Given the description of an element on the screen output the (x, y) to click on. 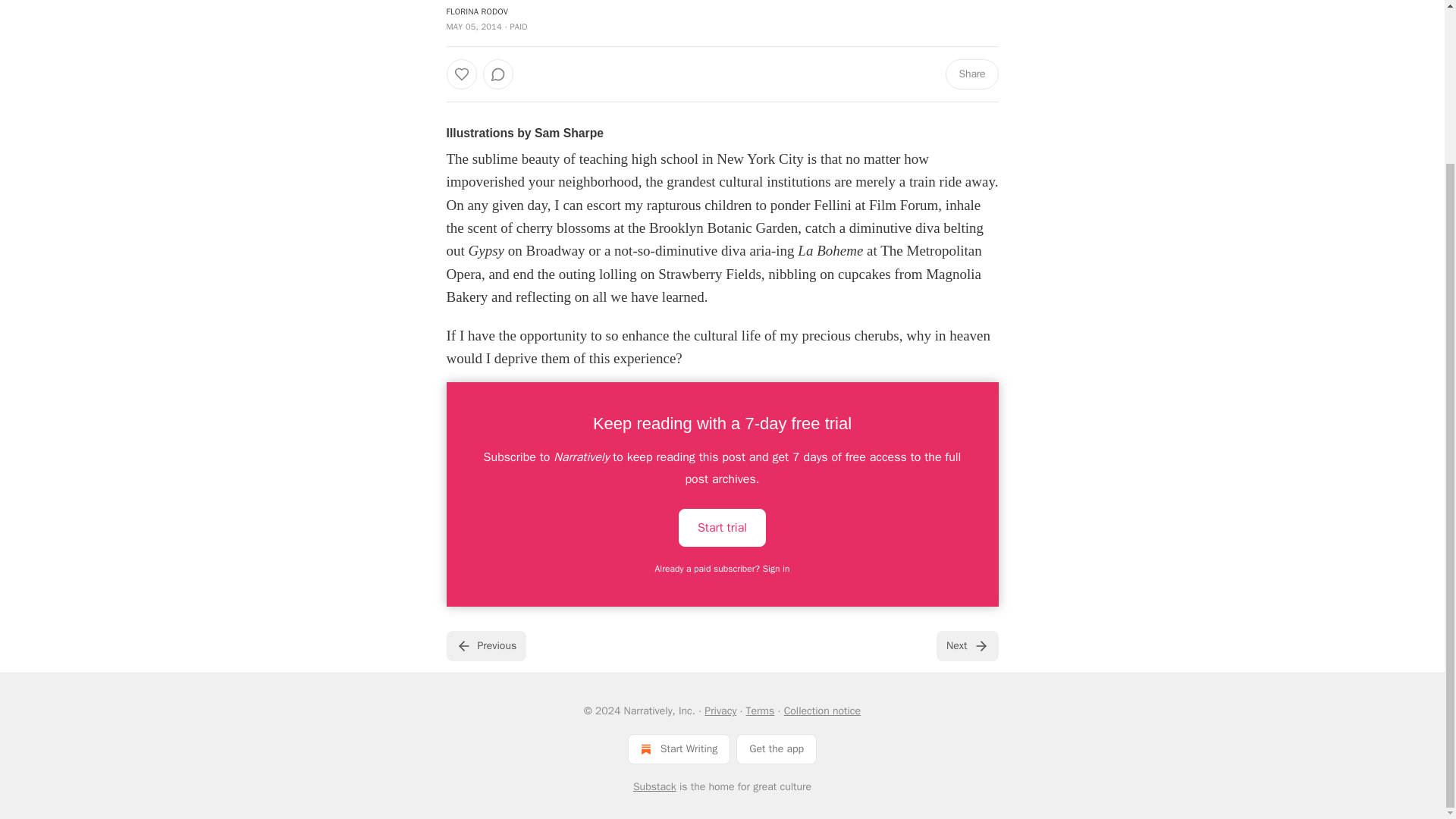
Start trial (721, 526)
Share (970, 73)
Next (966, 645)
Terms (759, 710)
Start trial (721, 527)
FLORINA RODOV (476, 10)
Already a paid subscriber? Sign in (722, 568)
Collection notice (822, 710)
Start Writing (678, 748)
Get the app (776, 748)
Substack (655, 786)
Privacy (720, 710)
Previous (485, 645)
